Given the description of an element on the screen output the (x, y) to click on. 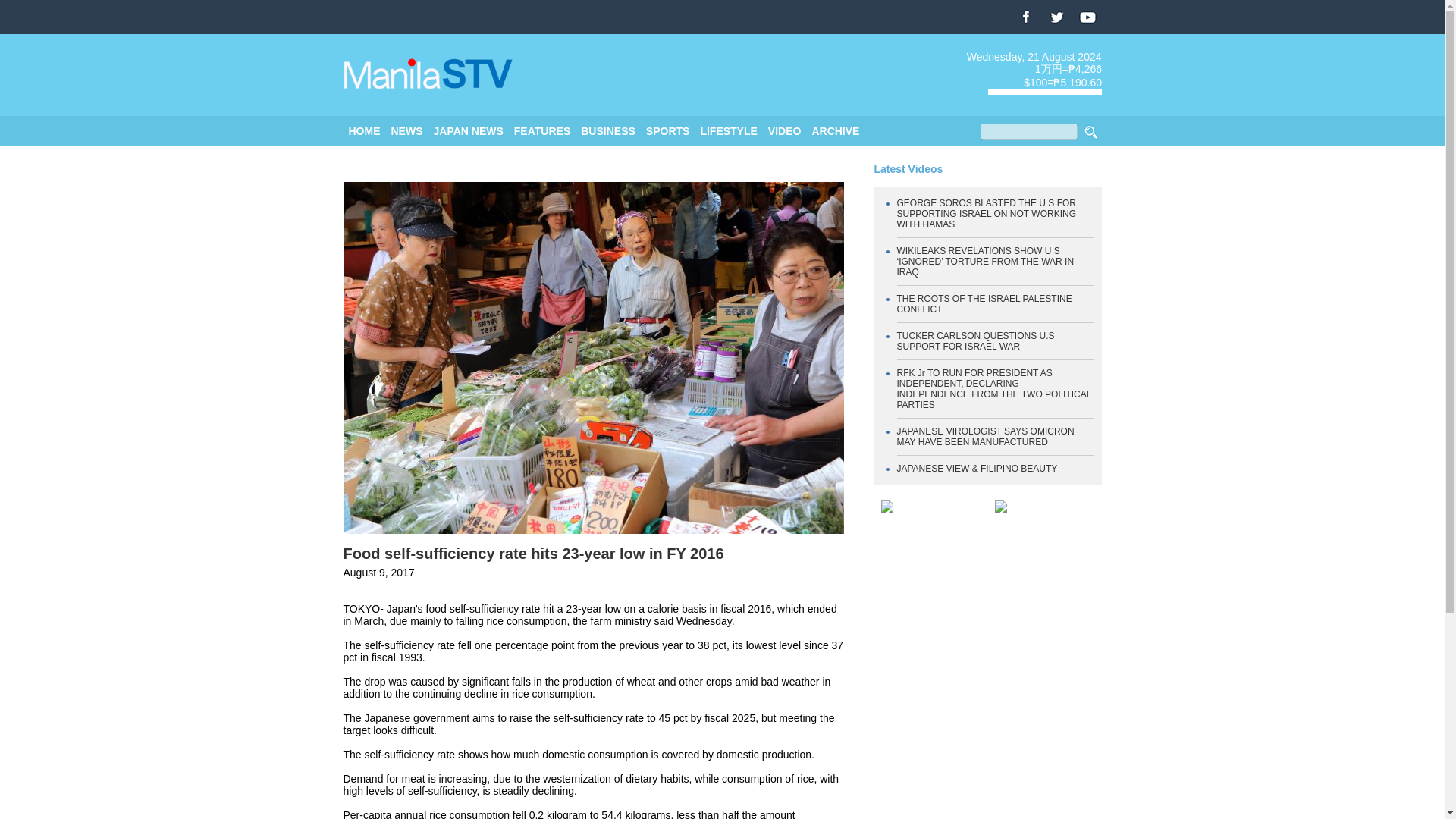
HOME (364, 131)
JAPANESE VIROLOGIST SAYS OMICRON MAY HAVE BEEN MANUFACTURED (985, 436)
The Daily Manila Shimbun (427, 74)
NEWS (407, 131)
BUSINESS (607, 131)
VIDEO (785, 131)
FEATURES (541, 131)
TUCKER CARLSON QUESTIONS U.S SUPPORT FOR ISRAEL WAR (975, 341)
